Given the description of an element on the screen output the (x, y) to click on. 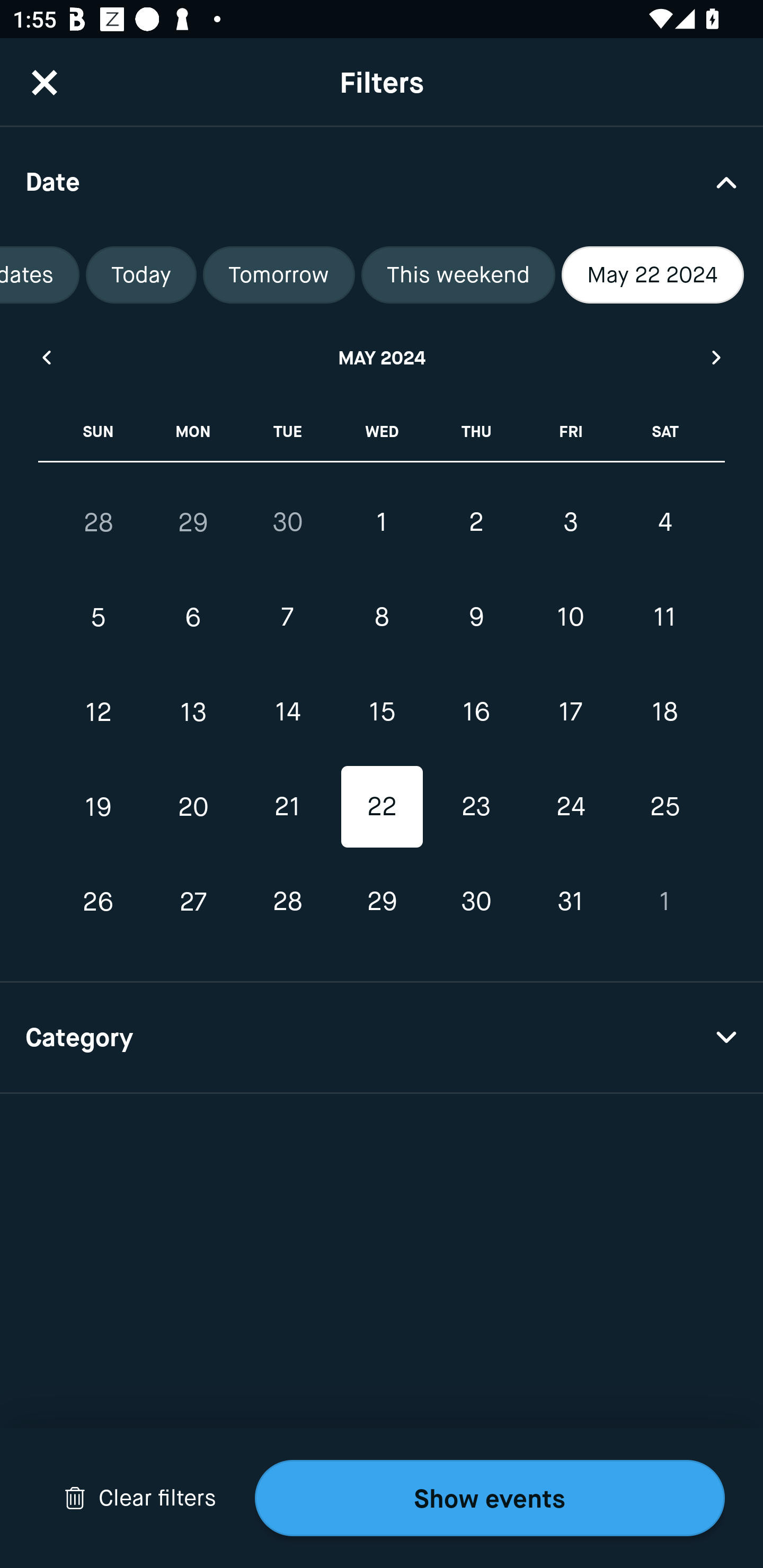
CloseButton (44, 82)
Date Drop Down Arrow (381, 181)
Today (140, 274)
Tomorrow (278, 274)
This weekend (458, 274)
May 22 2024 (652, 274)
Previous (45, 357)
Next (717, 357)
28 (98, 522)
29 (192, 522)
30 (287, 522)
1 (381, 522)
2 (475, 522)
3 (570, 522)
4 (664, 522)
5 (98, 617)
6 (192, 617)
7 (287, 617)
8 (381, 617)
9 (475, 617)
10 (570, 617)
11 (664, 617)
12 (98, 711)
13 (192, 711)
14 (287, 711)
15 (381, 711)
16 (475, 711)
17 (570, 711)
18 (664, 711)
19 (98, 806)
20 (192, 806)
21 (287, 806)
22 (381, 806)
23 (475, 806)
24 (570, 806)
25 (664, 806)
26 (98, 901)
27 (192, 901)
28 (287, 901)
29 (381, 901)
30 (475, 901)
31 (570, 901)
1 (664, 901)
Category Drop Down Arrow (381, 1038)
Drop Down Arrow Clear filters (139, 1497)
Show events (489, 1497)
